Given the description of an element on the screen output the (x, y) to click on. 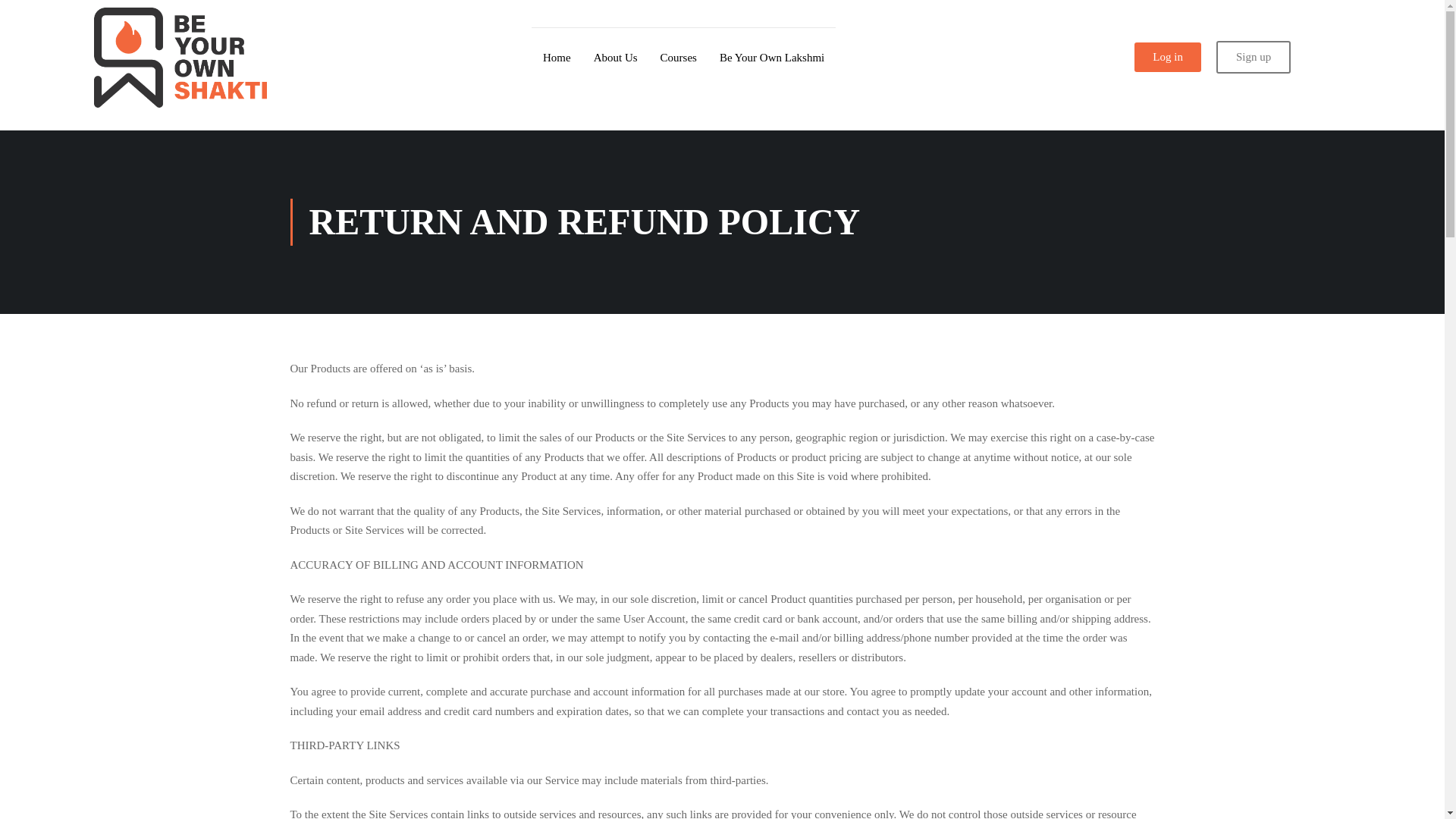
Sign up (1252, 56)
Be Your Own Lakshmi (771, 57)
Courses (678, 57)
About Us (615, 57)
Log in (1167, 57)
